Given the description of an element on the screen output the (x, y) to click on. 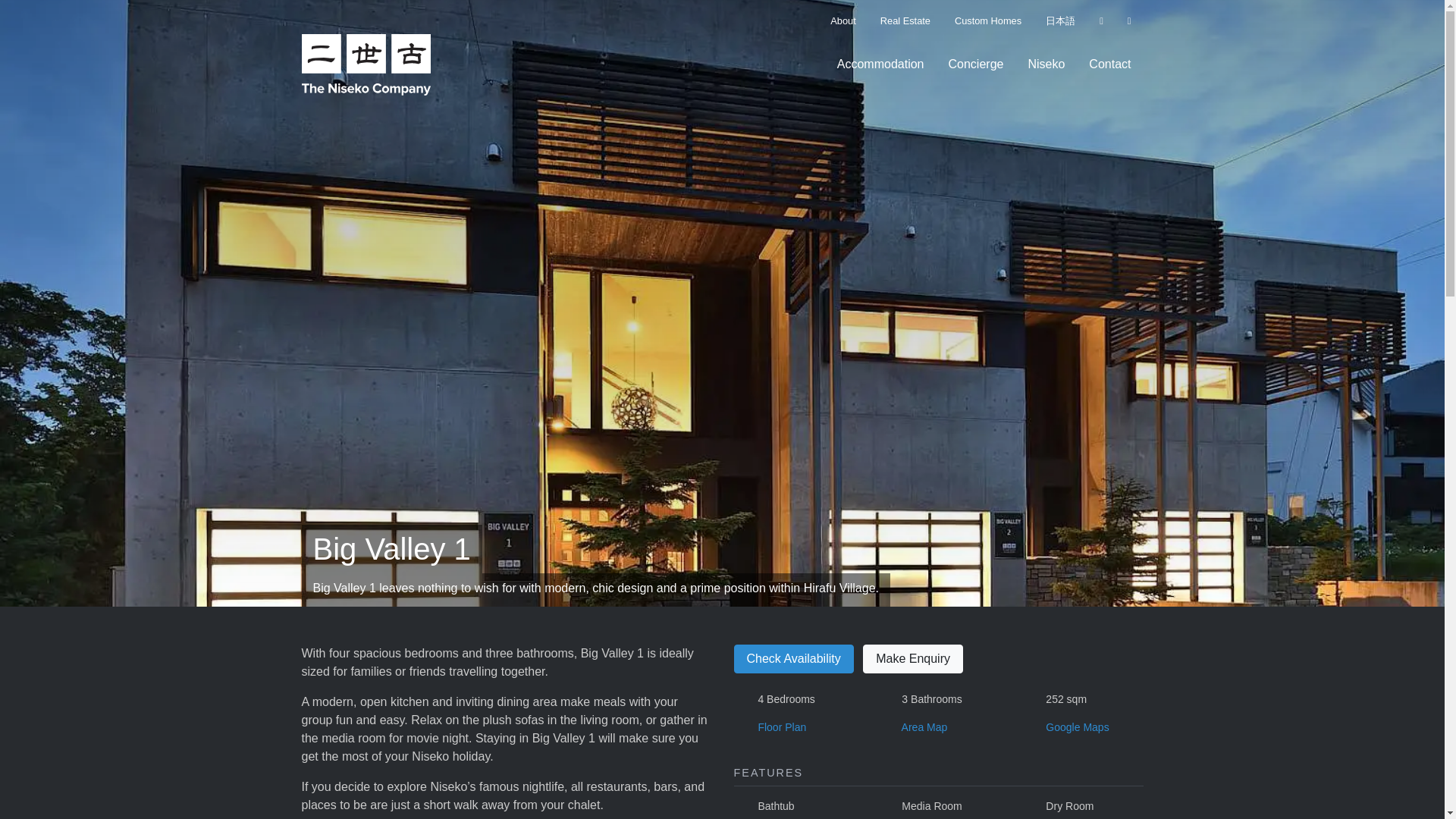
Floor Plan (781, 727)
Make Enquiry (912, 658)
Contact (1109, 64)
About (842, 20)
Niseko (1045, 64)
Area Map (924, 727)
Real Estate (904, 20)
Google Maps (1076, 727)
Accommodation (880, 64)
Concierge (975, 64)
Check Availability (793, 658)
Custom Homes (987, 20)
